Given the description of an element on the screen output the (x, y) to click on. 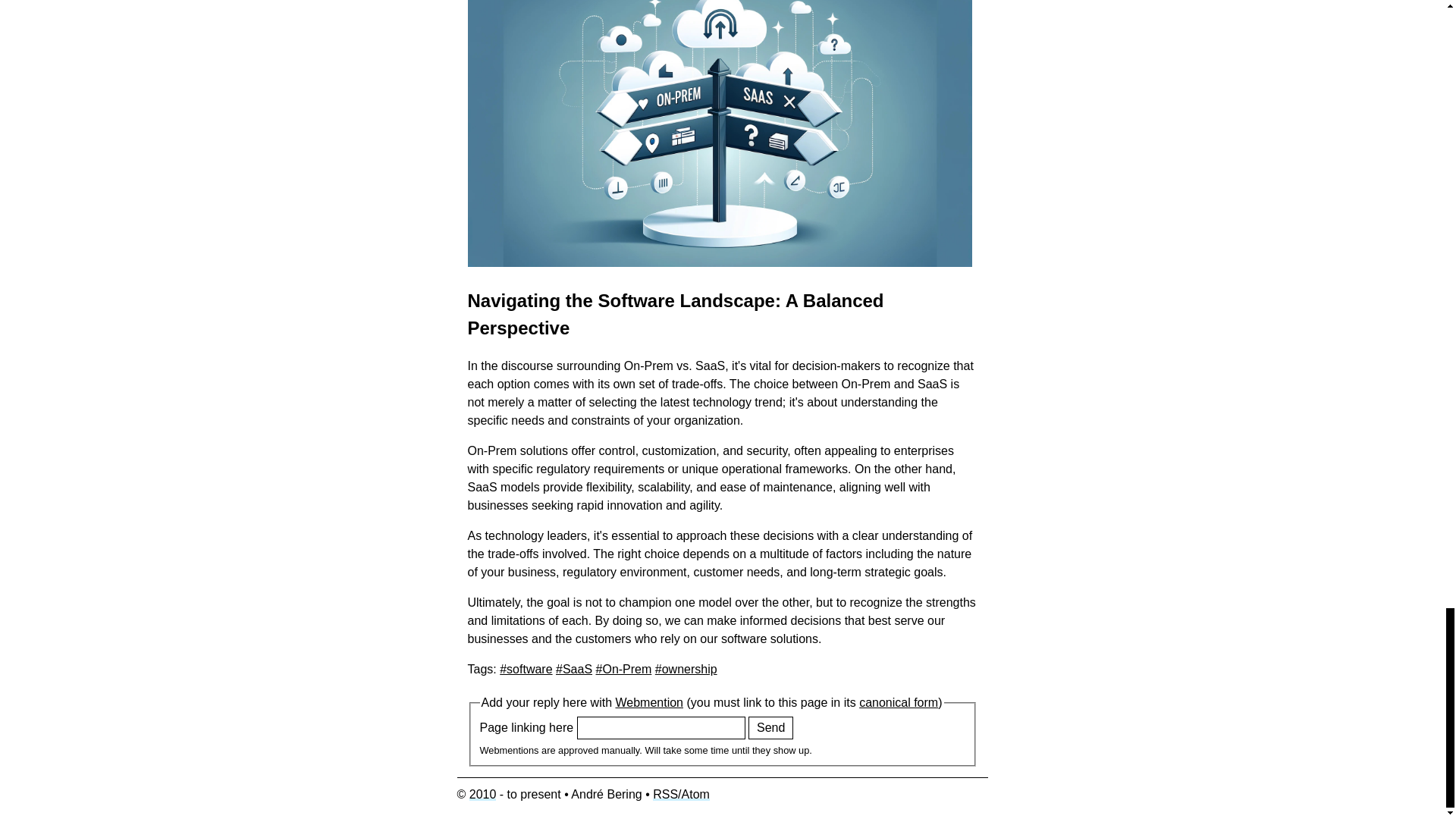
2010 (482, 793)
